Given the description of an element on the screen output the (x, y) to click on. 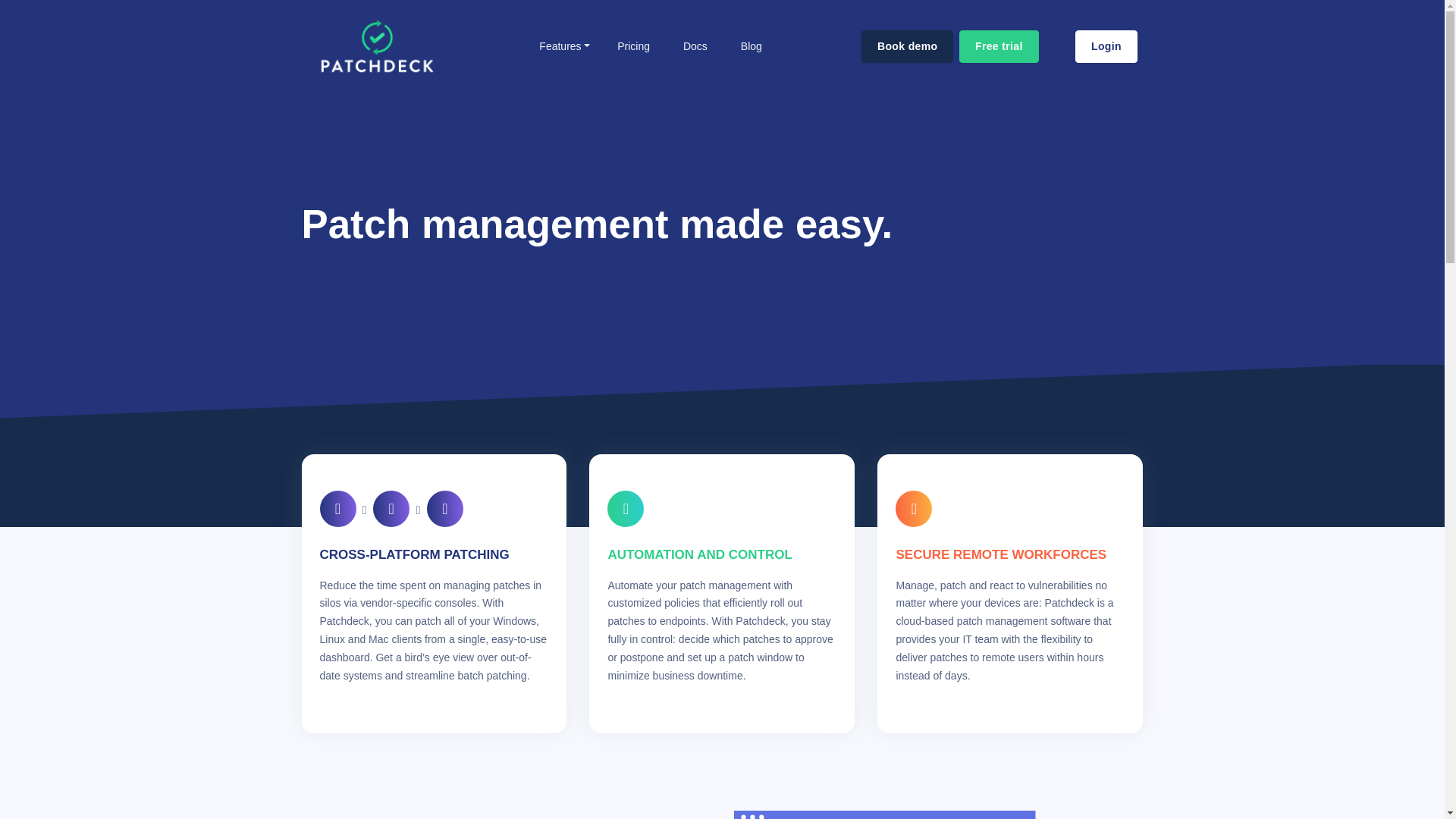
Book demo (907, 46)
Docs (693, 45)
Login (1106, 46)
Pricing (632, 45)
Blog (749, 45)
Free trial (999, 46)
Features (564, 45)
